Given the description of an element on the screen output the (x, y) to click on. 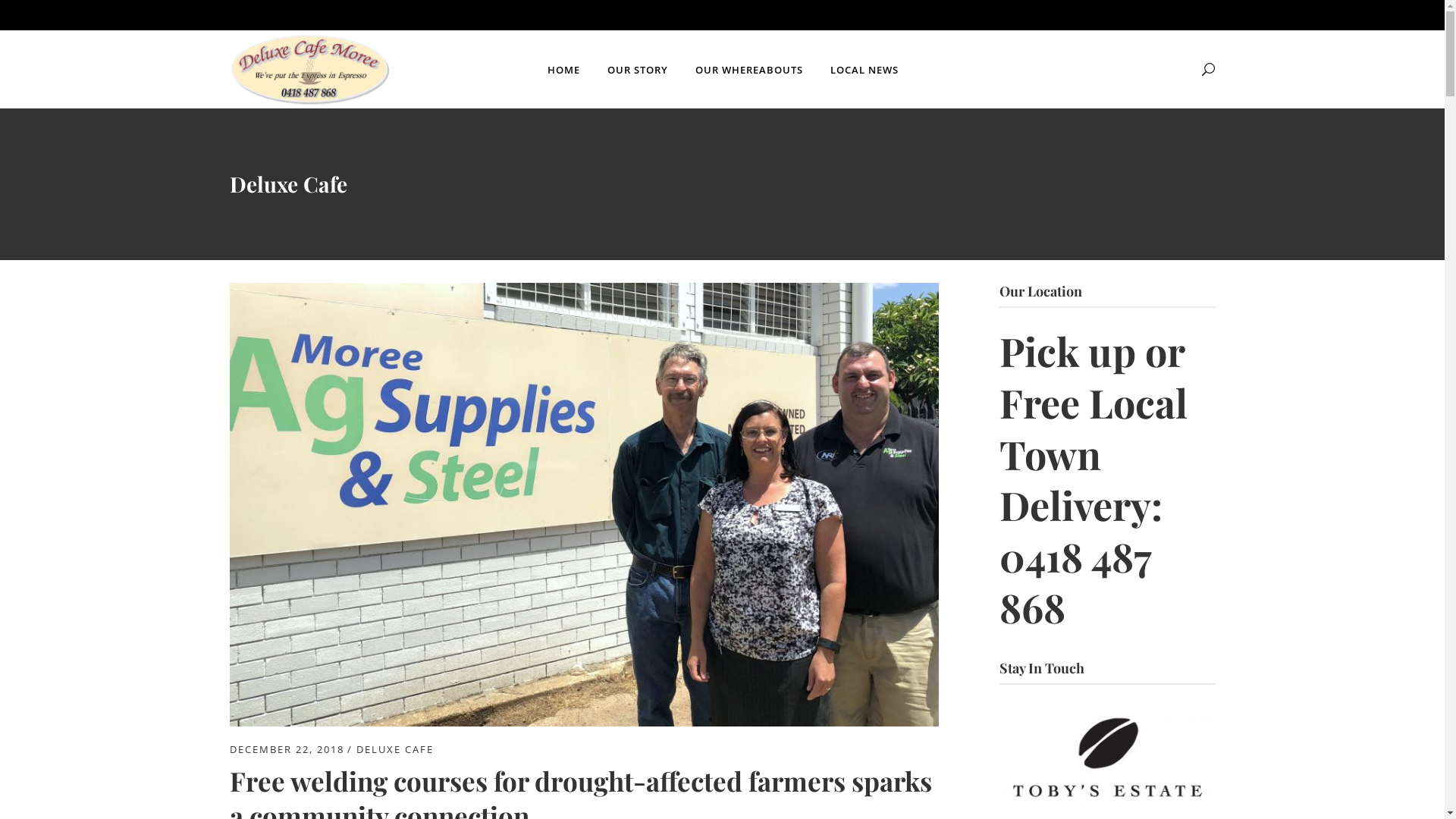
OUR STORY Element type: text (636, 69)
LOCAL NEWS Element type: text (863, 69)
U Element type: text (988, 411)
OUR WHEREABOUTS Element type: text (747, 69)
HOME Element type: text (563, 69)
DELUXE CAFE Element type: text (394, 749)
